Given the description of an element on the screen output the (x, y) to click on. 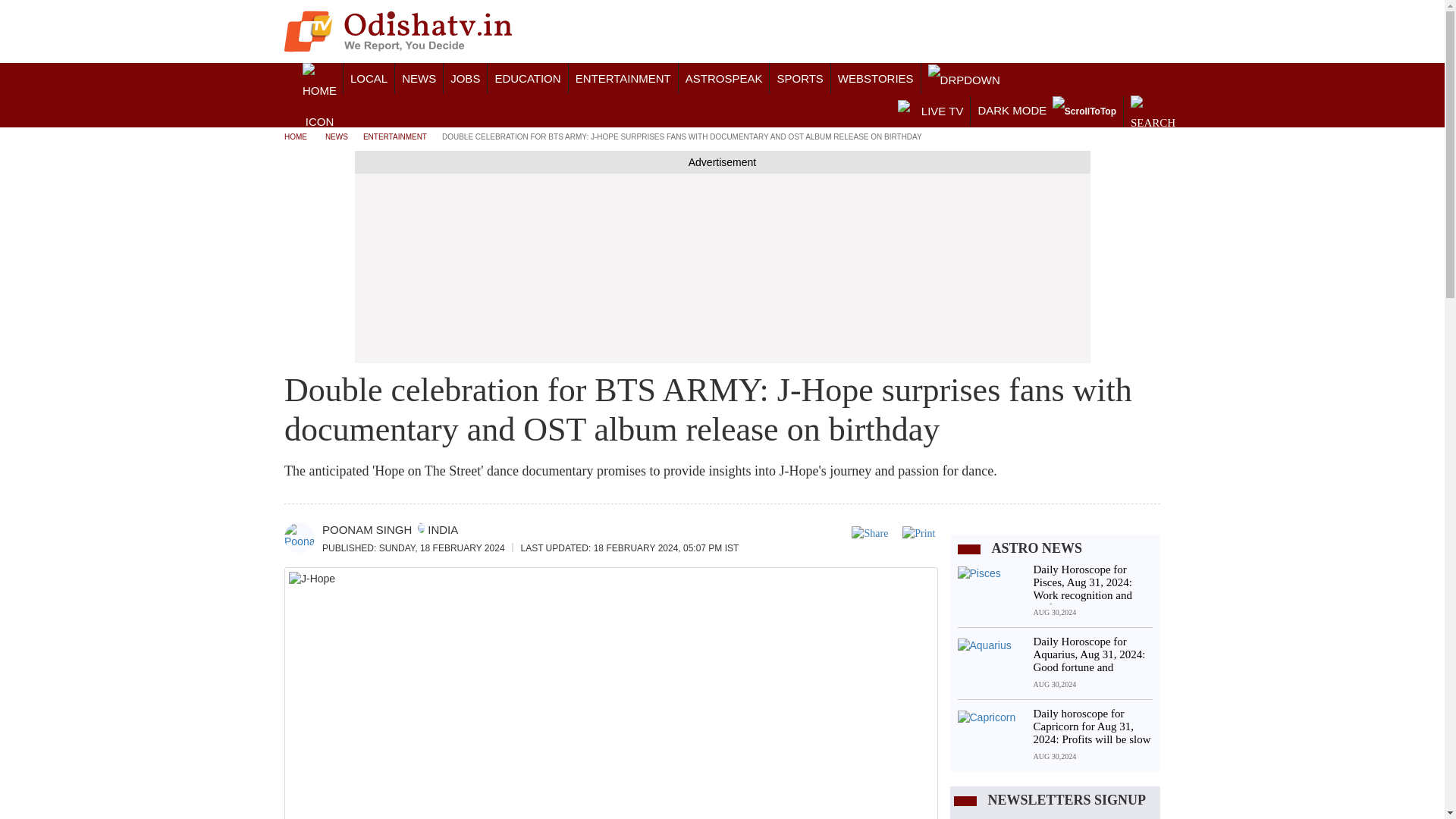
NEWS (418, 78)
JOBS (465, 78)
LinkedIn (1058, 33)
Facebook (1000, 33)
Twitter (1019, 33)
EDUCATION (527, 78)
News (418, 78)
Odisha (368, 78)
LOCAL (368, 78)
Koo (1097, 33)
